Given the description of an element on the screen output the (x, y) to click on. 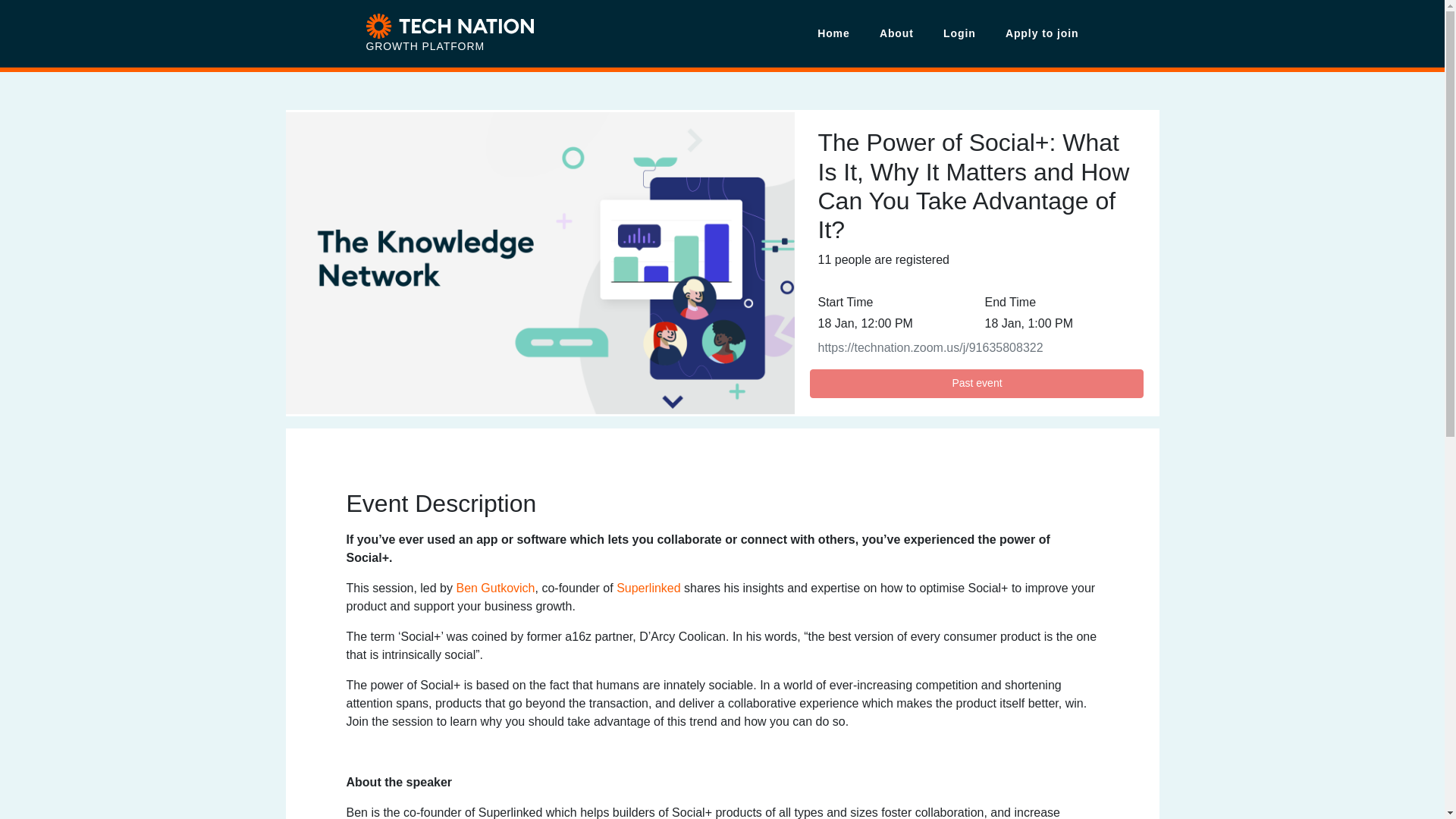
About (896, 33)
Ben Gutkovich (494, 587)
Superlinked (648, 587)
Past event (975, 383)
Login (959, 33)
Apply to join (1034, 33)
Home (833, 33)
